Given the description of an element on the screen output the (x, y) to click on. 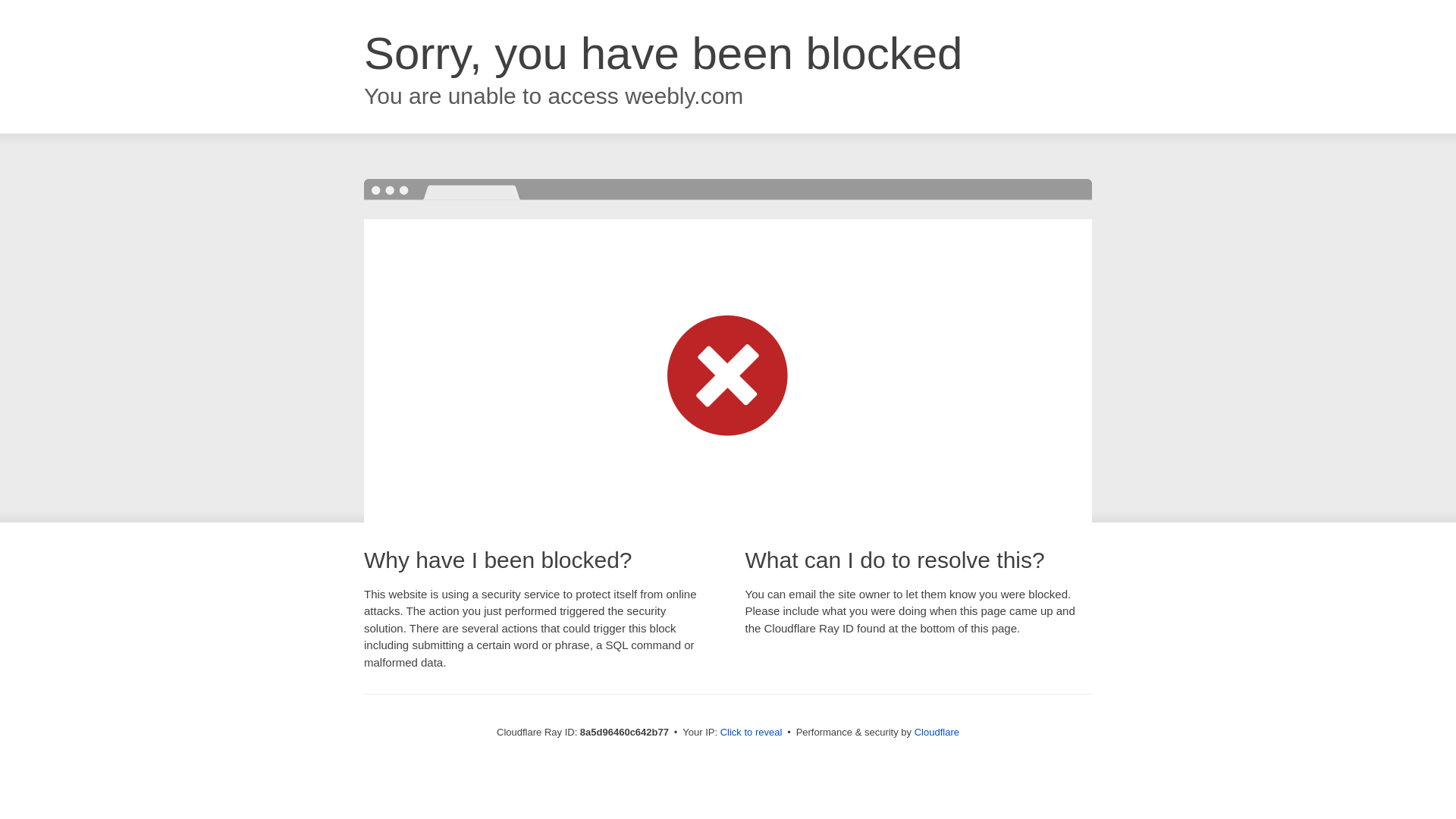
Click to reveal (751, 732)
Cloudflare (936, 731)
